Given the description of an element on the screen output the (x, y) to click on. 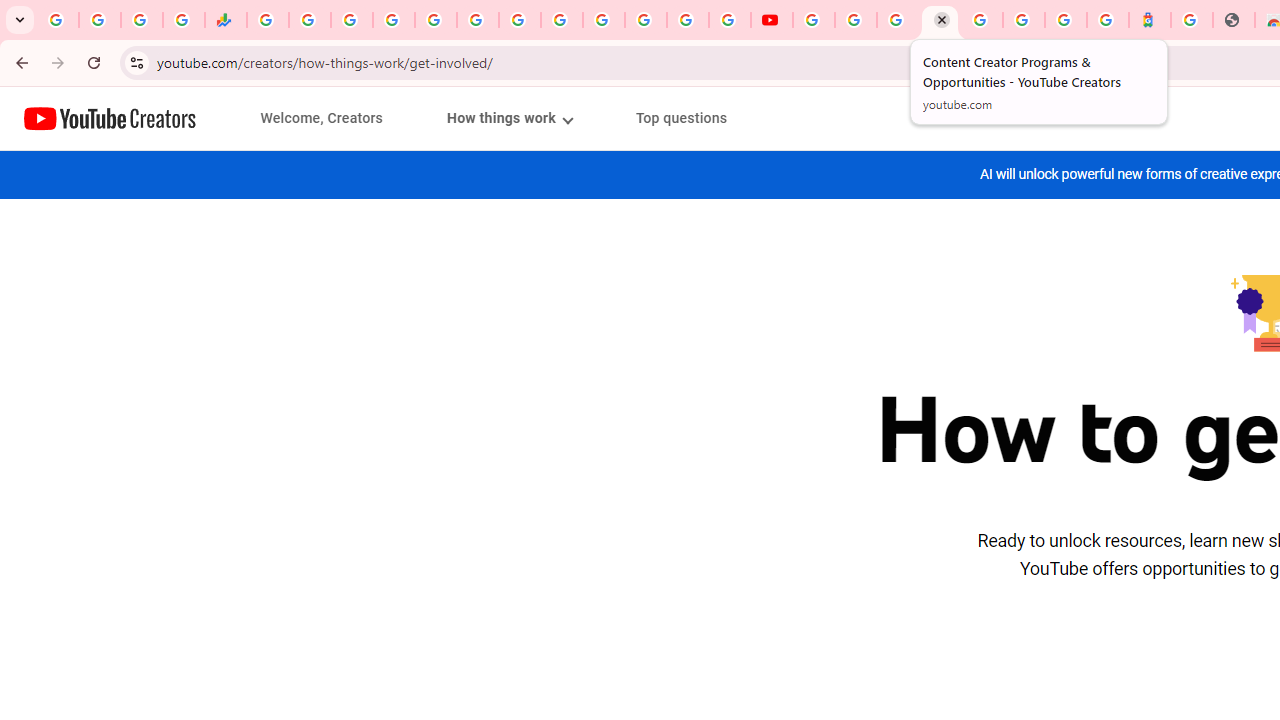
Google Account Help (855, 20)
JUMP TO CONTENT (209, 119)
Content Creator Programs & Opportunities - YouTube Creators (940, 20)
Welcome, Creators (321, 118)
Sign in - Google Accounts (393, 20)
Top questions (681, 118)
Create your Google Account (897, 20)
